Given the description of an element on the screen output the (x, y) to click on. 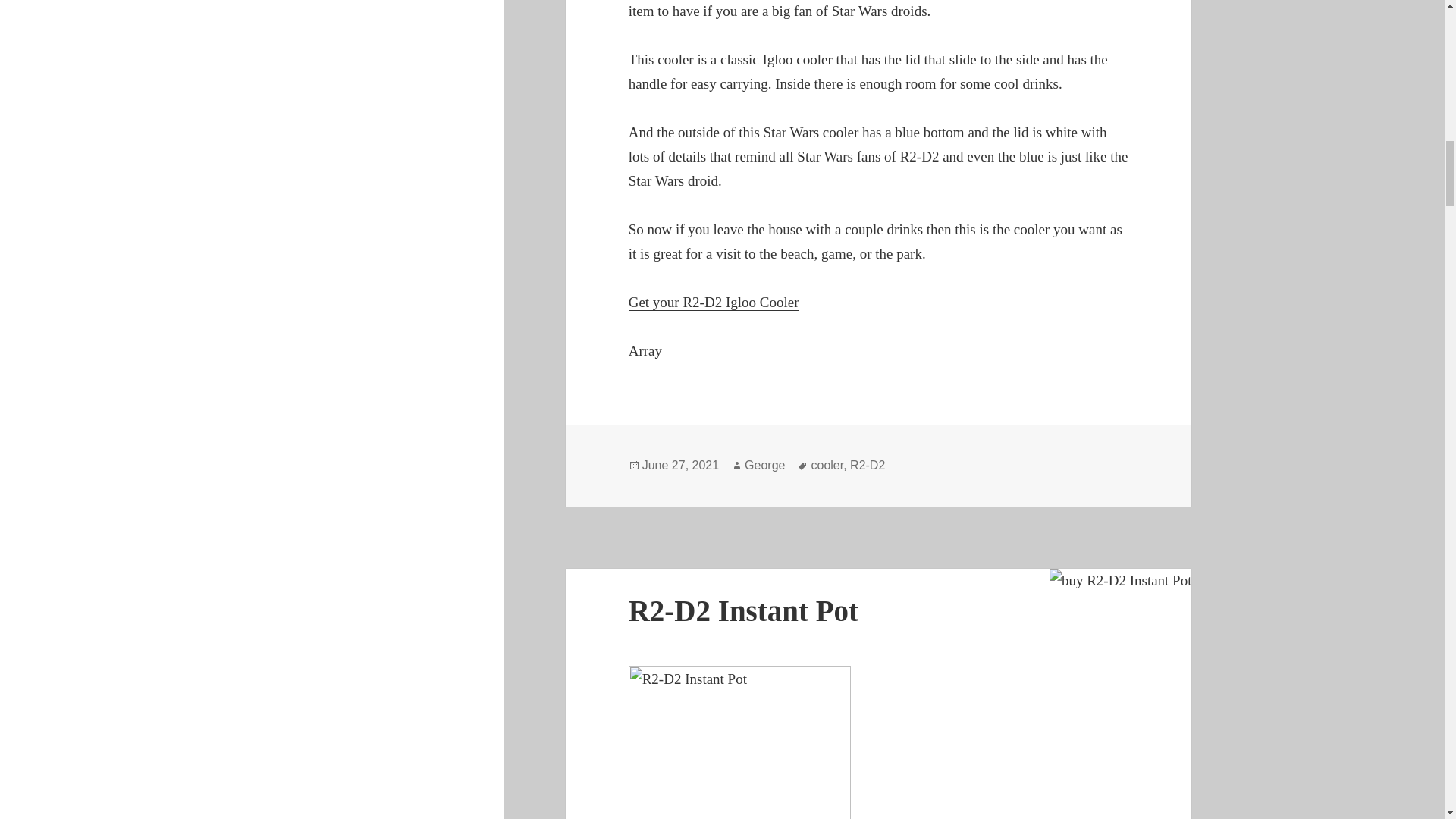
buy R2-D2 Instant Pot (1120, 580)
R2-D2 (867, 465)
R2-D2 Instant Pot (743, 610)
George (764, 465)
Get your R2-D2 Igloo Cooler (713, 302)
June 27, 2021 (680, 465)
cooler (826, 465)
